Given the description of an element on the screen output the (x, y) to click on. 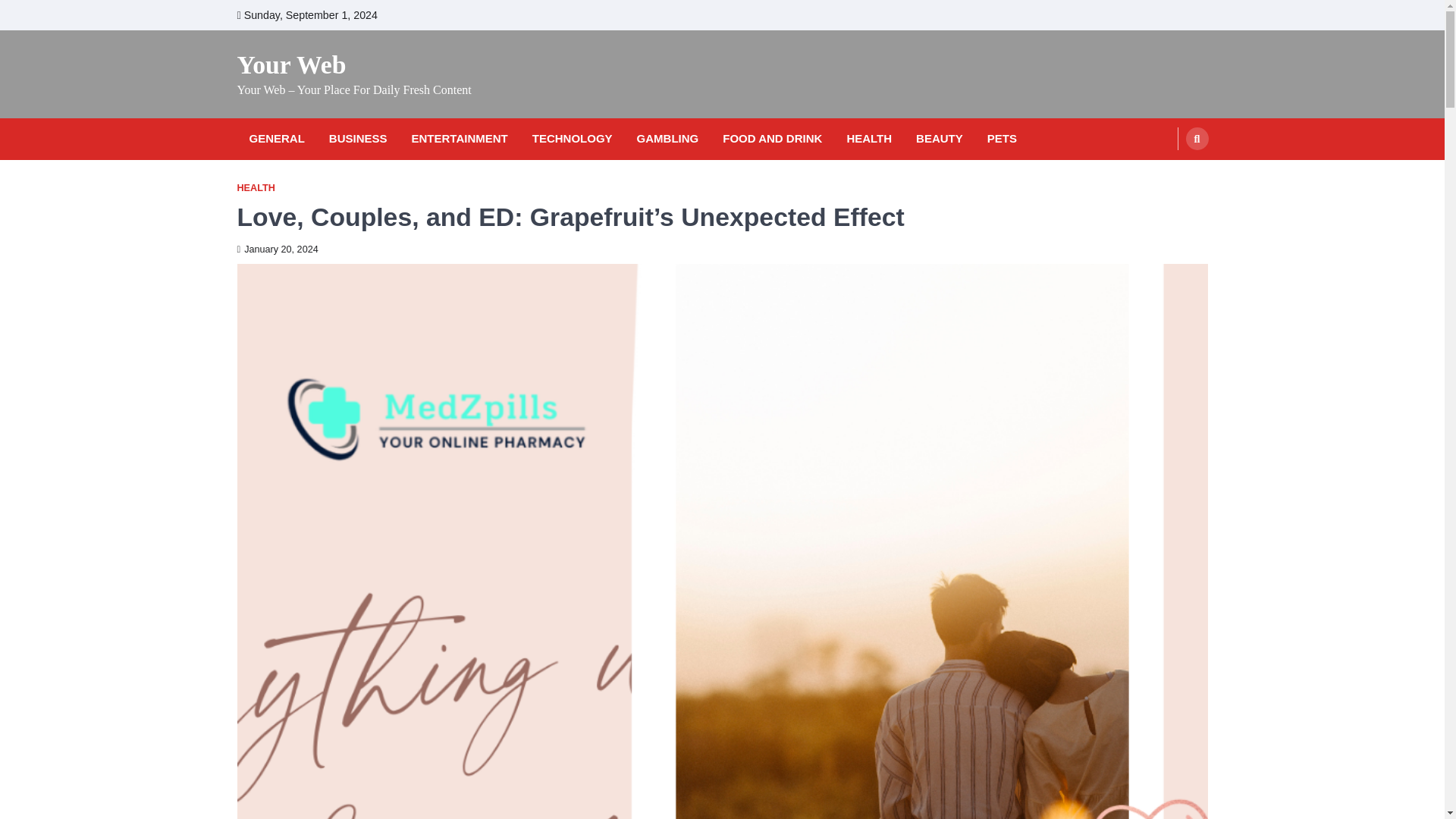
FOOD AND DRINK (772, 139)
January 20, 2024 (276, 249)
GENERAL (276, 139)
TECHNOLOGY (571, 139)
ENTERTAINMENT (459, 139)
Your Web (290, 64)
Search (1168, 174)
GAMBLING (667, 139)
Search (1197, 138)
HEALTH (255, 188)
